Given the description of an element on the screen output the (x, y) to click on. 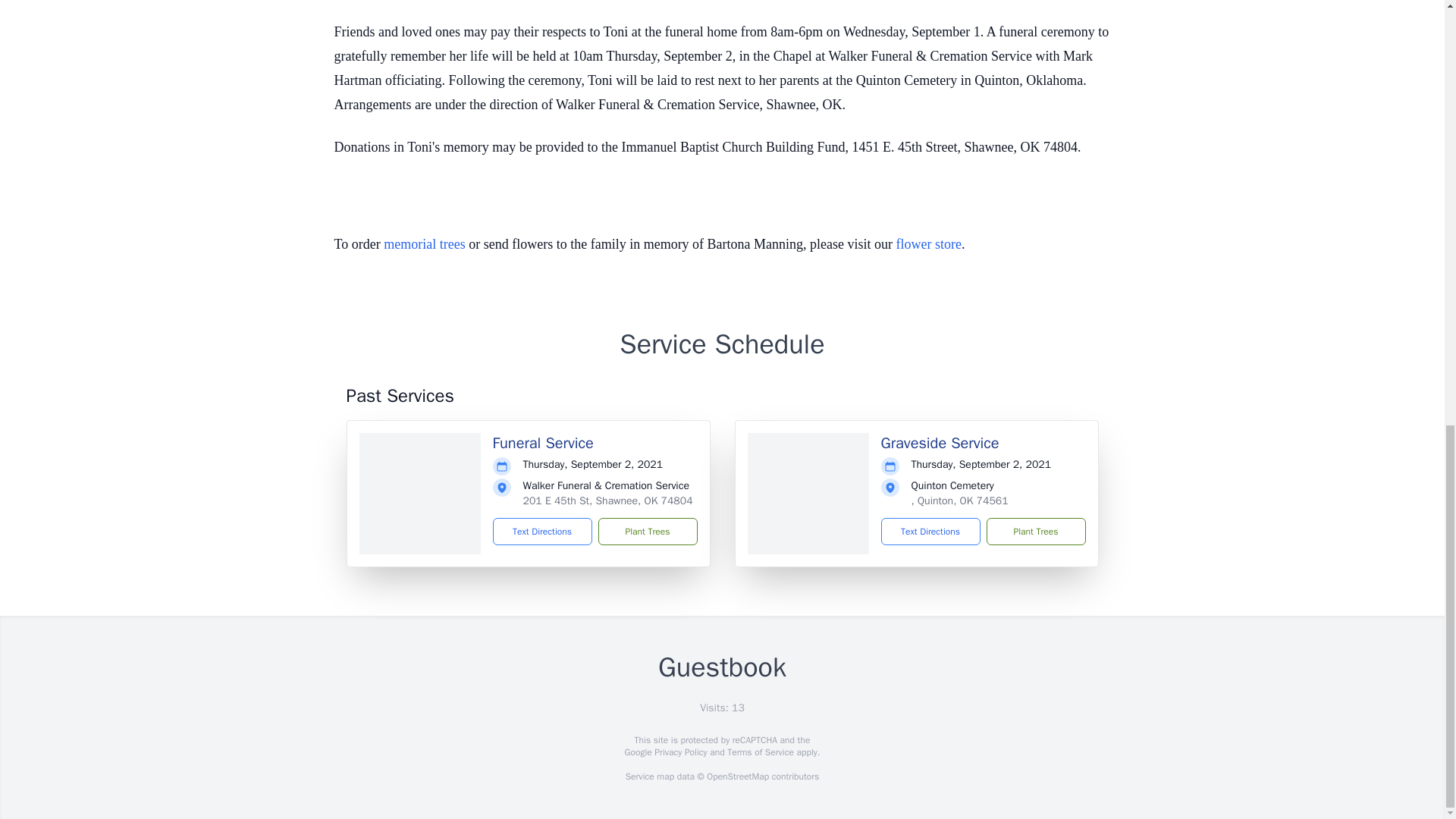
flower store (928, 243)
Privacy Policy (679, 752)
, Quinton, OK 74561 (960, 500)
Terms of Service (759, 752)
OpenStreetMap (737, 776)
Plant Trees (646, 531)
memorial trees (424, 243)
Text Directions (542, 531)
Plant Trees (1034, 531)
201 E 45th St, Shawnee, OK 74804 (607, 500)
